Given the description of an element on the screen output the (x, y) to click on. 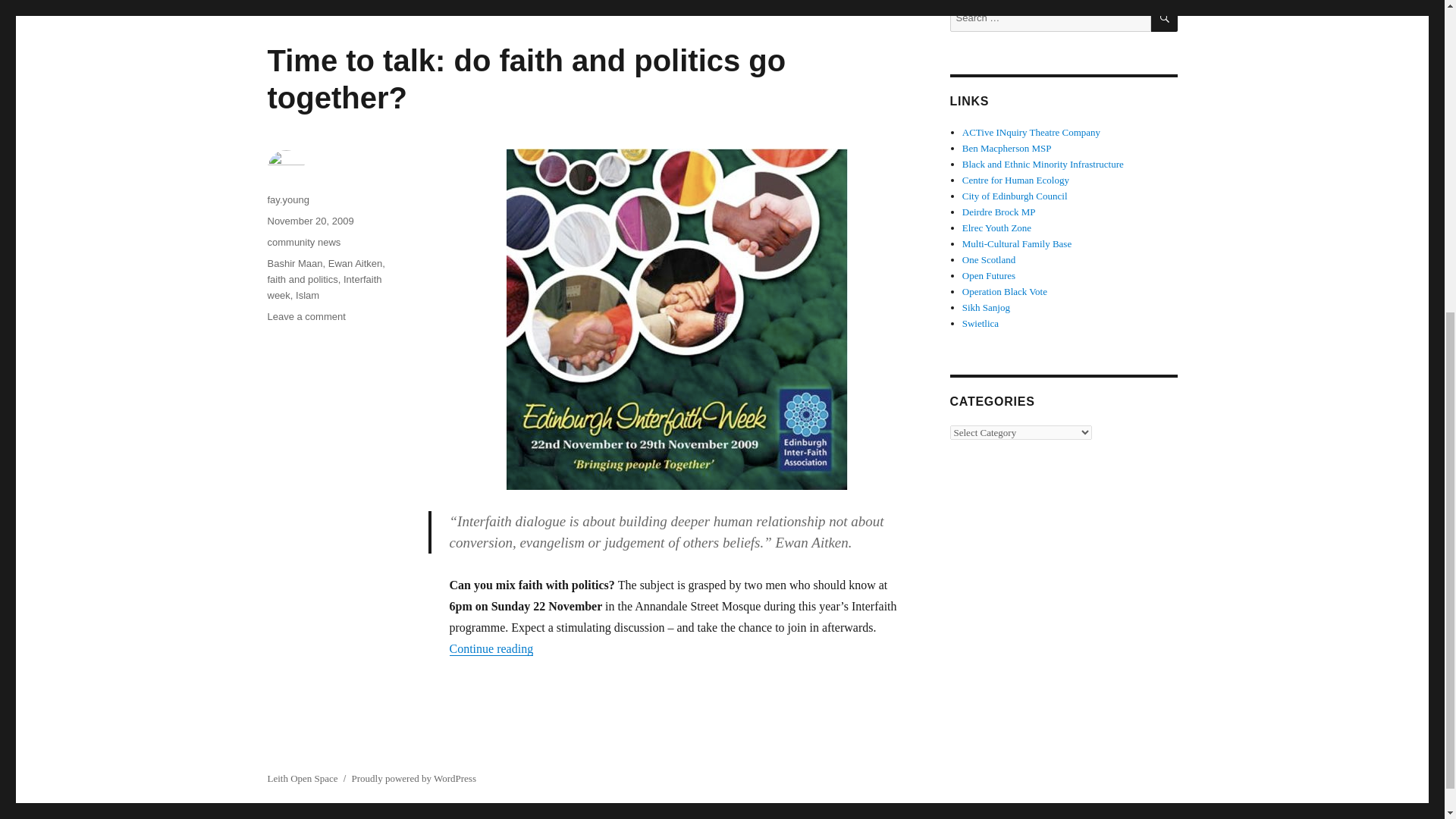
Islam (306, 295)
Bashir Maan (293, 263)
Deirdre Brock MP (998, 211)
faith and politics (301, 279)
community news (303, 242)
Multi-Cultural Family Base (1016, 243)
Time to talk: do faith and politics go together? (526, 79)
Elrec Youth Zone (996, 227)
Youth chill out zone (996, 227)
working with Sikh women and their families (986, 307)
City of Edinburgh Council (1014, 195)
Ewan Aitken (355, 263)
fay.young (287, 199)
Centre for Human Ecology (1015, 179)
